Given the description of an element on the screen output the (x, y) to click on. 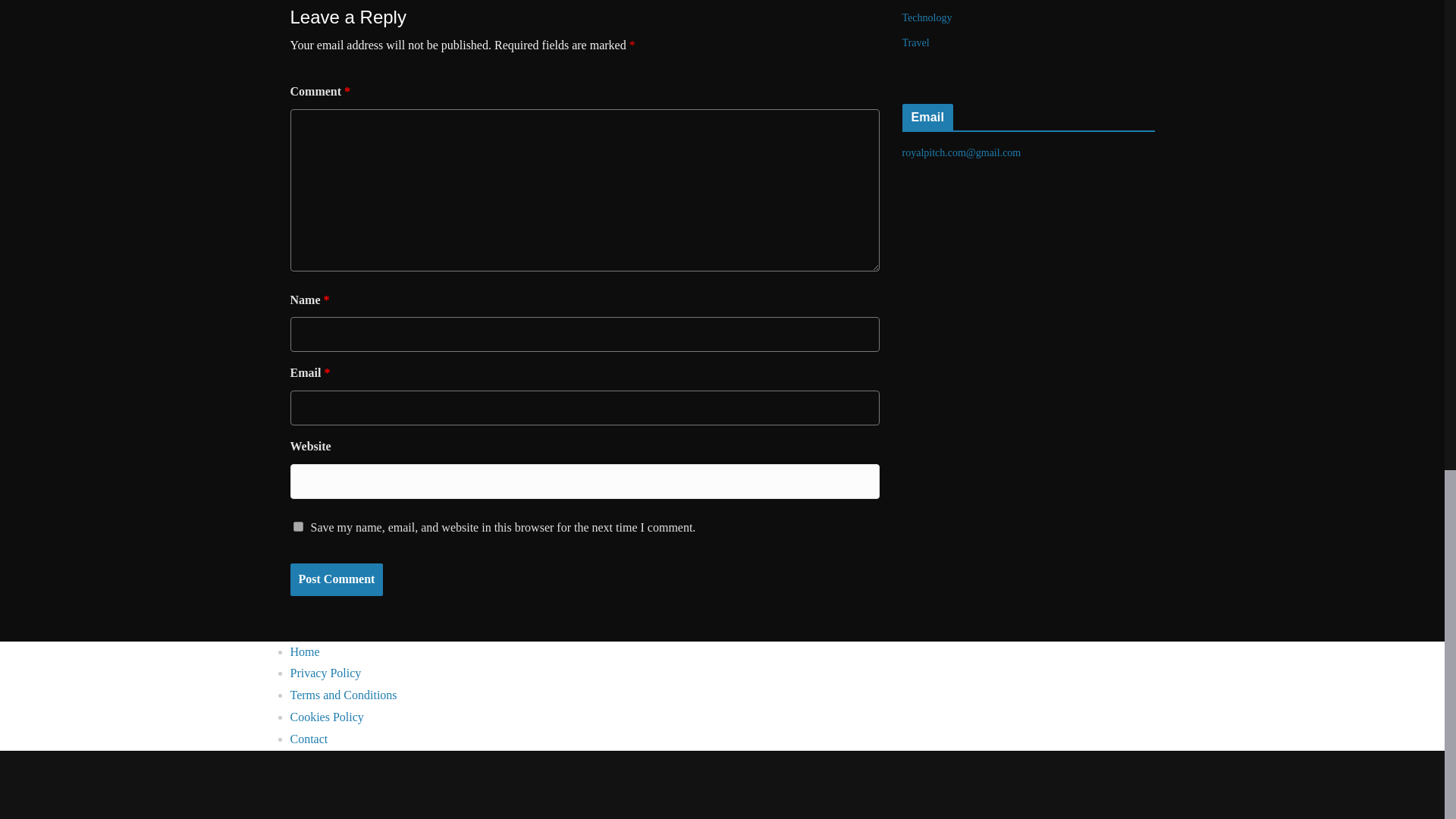
yes (297, 526)
Post Comment (335, 579)
Post Comment (335, 579)
